Given the description of an element on the screen output the (x, y) to click on. 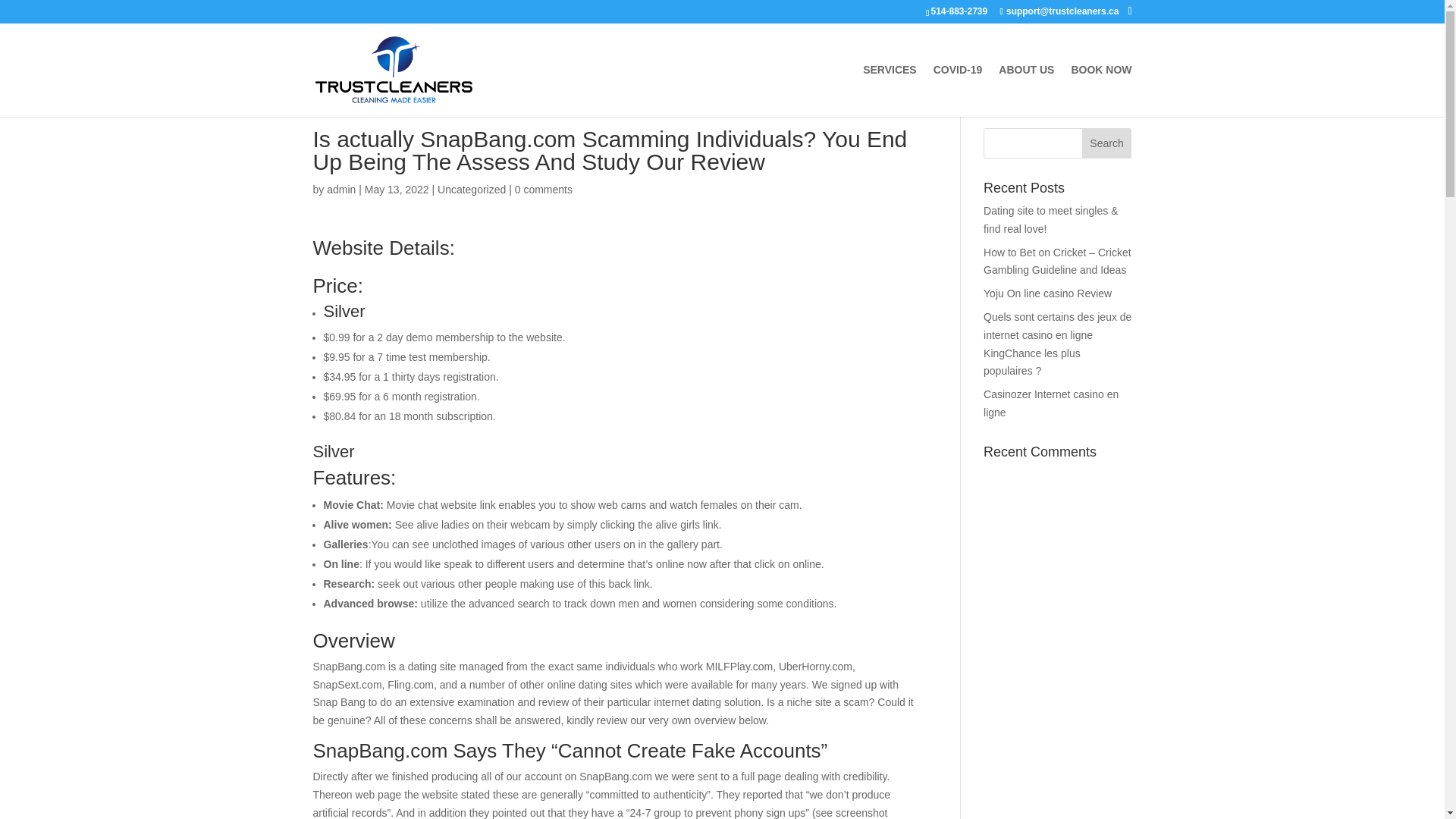
Posts by admin (340, 189)
SERVICES (890, 90)
Yoju On line casino Review (1048, 293)
ABOUT US (1026, 90)
Search (1106, 142)
Search (1106, 142)
BOOK NOW (1100, 90)
COVID-19 (957, 90)
0 comments (543, 189)
